Given the description of an element on the screen output the (x, y) to click on. 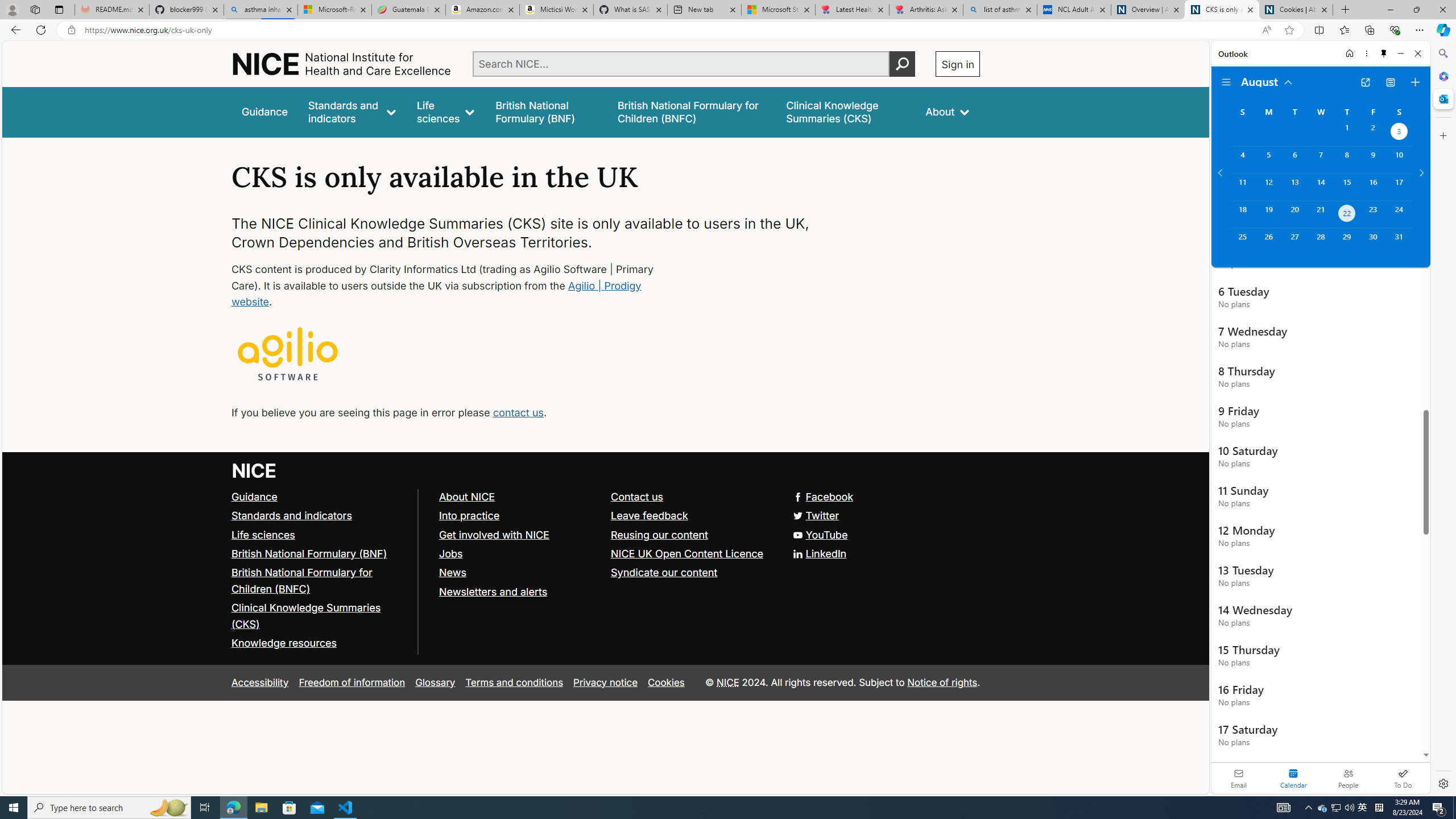
Perform search (902, 63)
Thursday, August 1, 2024.  (1346, 132)
Friday, August 30, 2024.  (1372, 241)
People (1347, 777)
Selected calendar module. Date today is 22 (1293, 777)
false (845, 111)
Privacy notice (605, 682)
